Given the description of an element on the screen output the (x, y) to click on. 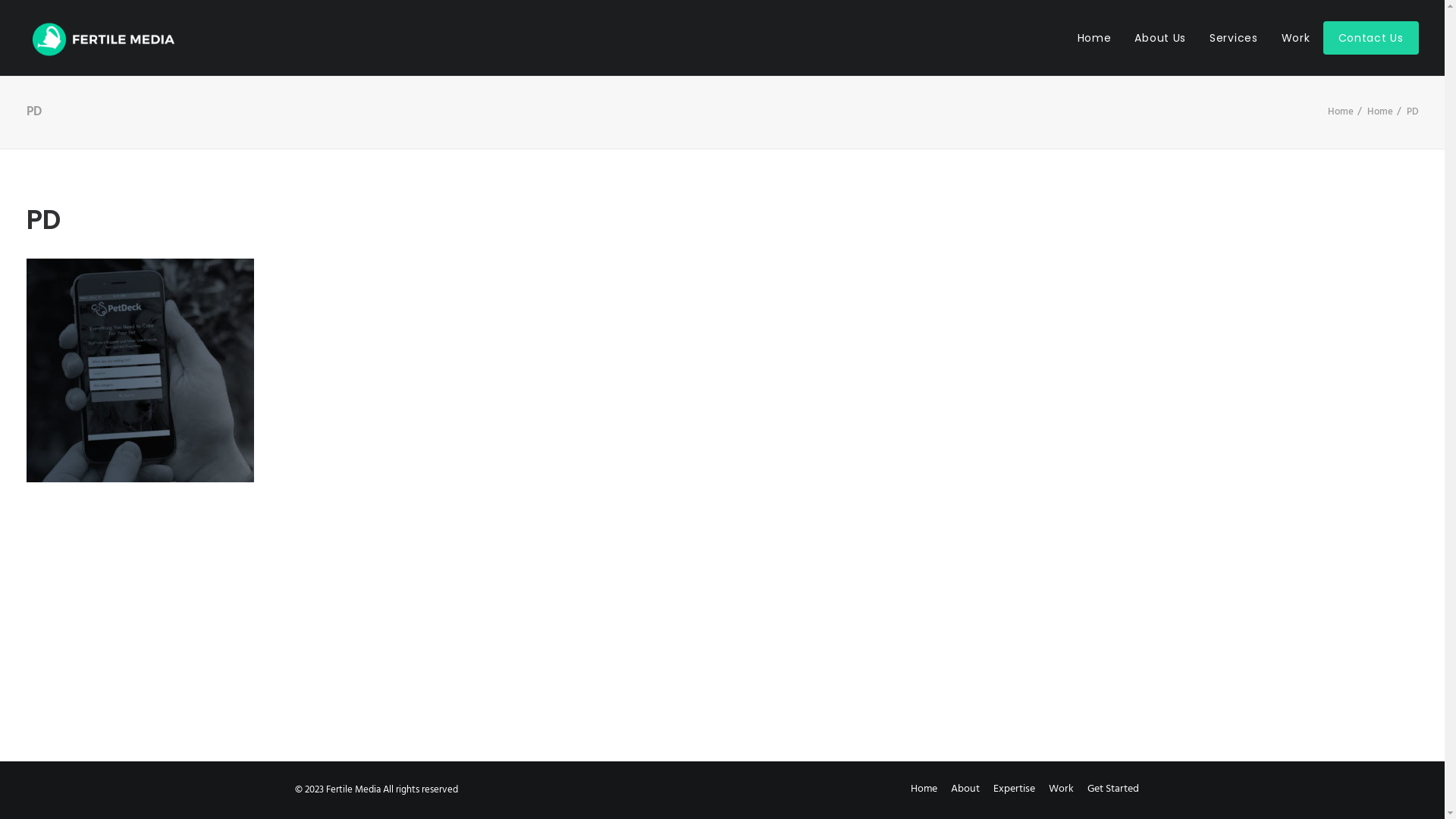
Contact Us Element type: text (1370, 37)
Get Started Element type: text (1113, 788)
About Us Element type: text (1159, 37)
Work Element type: text (1295, 37)
Expertise Element type: text (1014, 788)
Home Element type: text (923, 788)
Home Element type: text (1379, 111)
Services Element type: text (1233, 37)
Work Element type: text (1060, 788)
Home Element type: text (1099, 37)
Home Element type: text (1339, 111)
About Element type: text (964, 788)
